Given the description of an element on the screen output the (x, y) to click on. 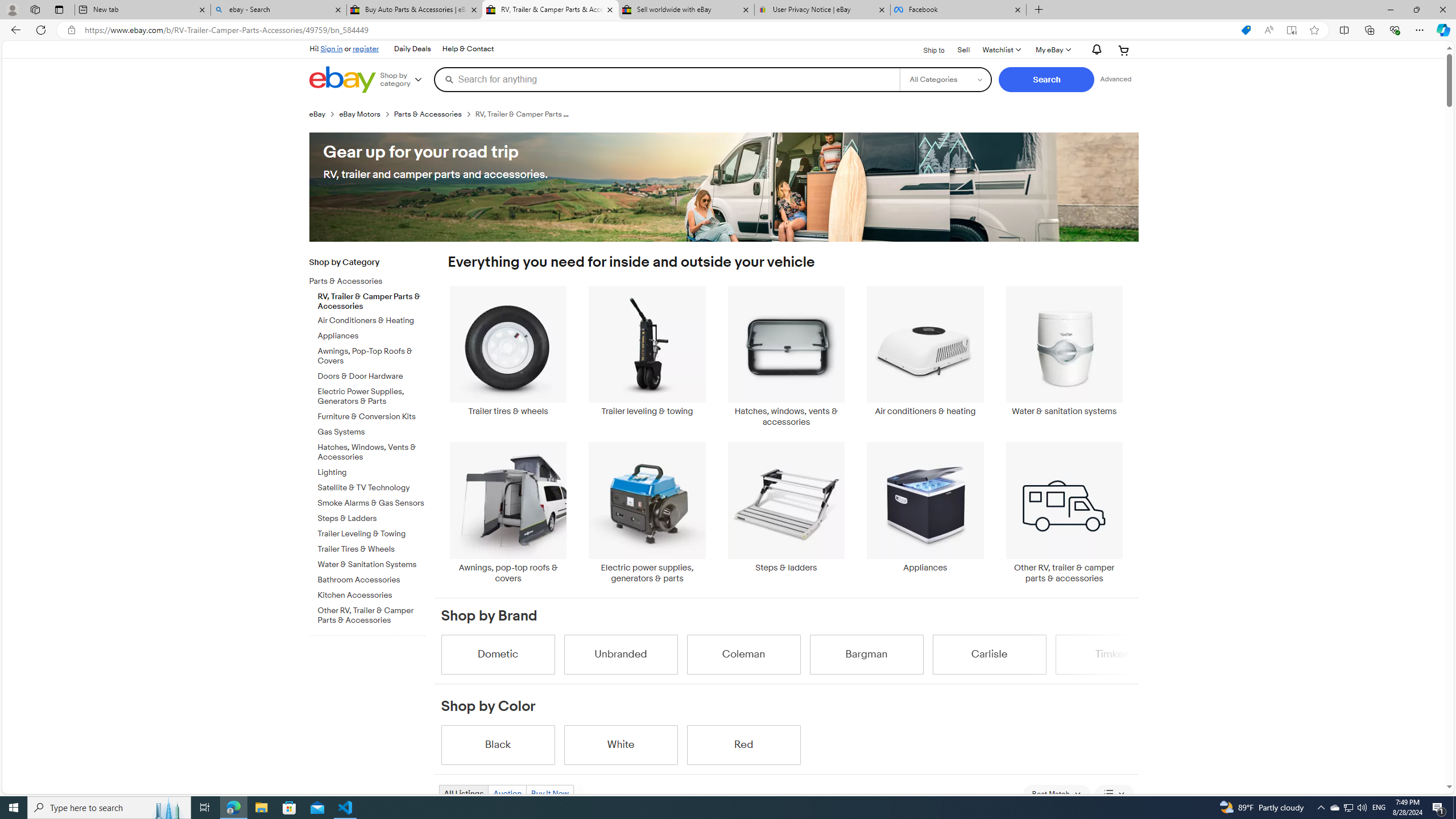
Ship to (926, 49)
Go to next slide (1131, 654)
Expand Cart (1123, 49)
Air conditioners & heating (925, 356)
Parts & Accessories (371, 279)
Carlisle (988, 653)
Steps & Ladders (371, 518)
Awnings, Pop-Top Roofs & Covers (371, 356)
Hatches, Windows, Vents & Accessories (371, 450)
All Listings (463, 793)
eBay (323, 113)
RV, Trailer & Camper Parts & Accessories (371, 299)
Close tab (1017, 9)
Satellite & TV Technology (371, 485)
